Given the description of an element on the screen output the (x, y) to click on. 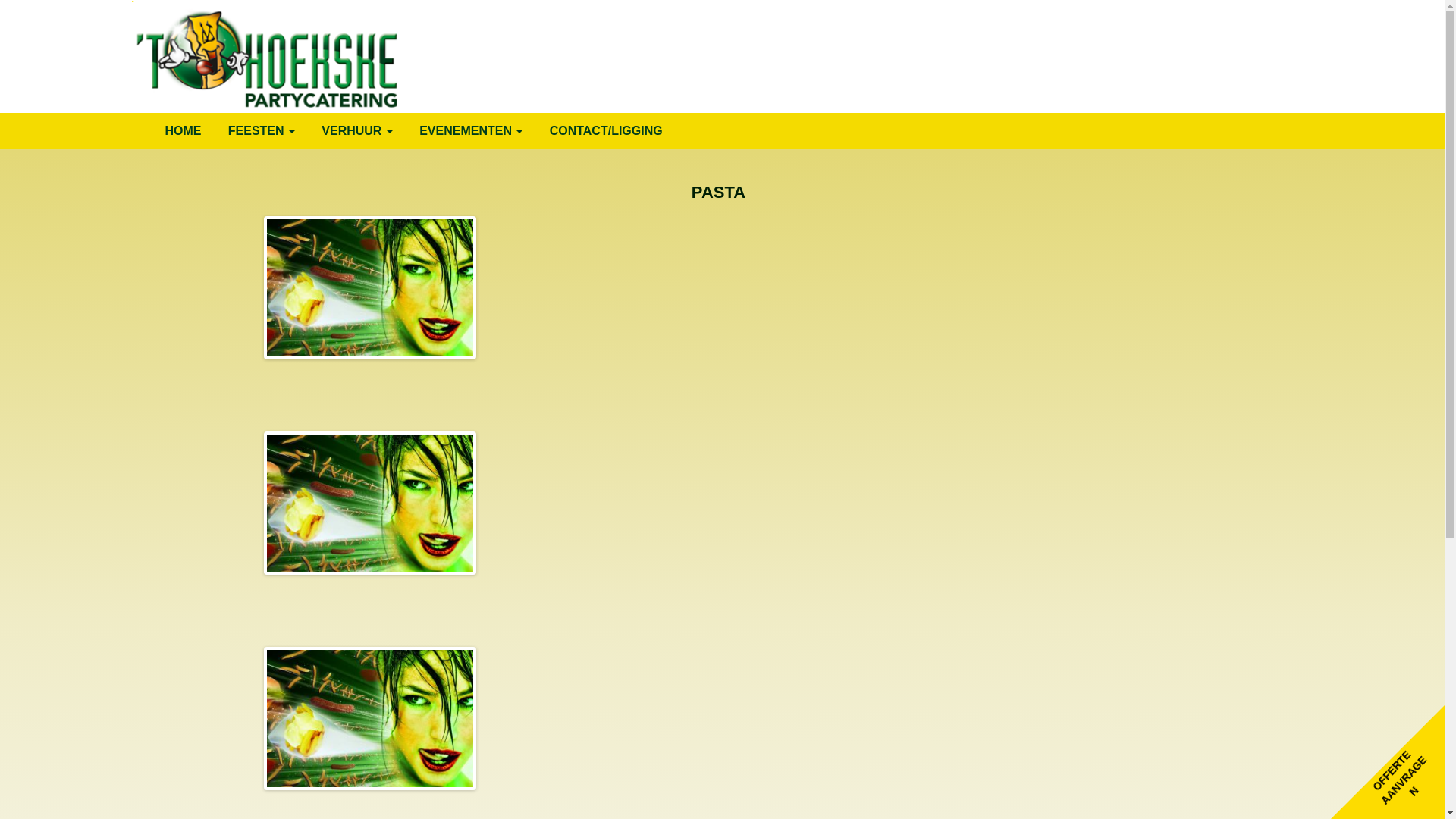
HOME Element type: text (182, 130)
CONTACT/LIGGING Element type: text (606, 130)
FEESTEN Element type: text (261, 130)
Hamburgerkraam op je event (3) Element type: hover (369, 502)
Skip to content Element type: text (153, 112)
Hamburgerkraam op je event (3) Element type: hover (369, 287)
Catering't Hoekske Element type: hover (264, 53)
EVENEMENTEN Element type: text (470, 130)
VERHUUR Element type: text (357, 130)
OFFERTE  AANVRAGEN Element type: text (1402, 769)
Catering't Hoekske Element type: text (228, 131)
Hamburgerkraam op je event (3) Element type: hover (369, 718)
